Given the description of an element on the screen output the (x, y) to click on. 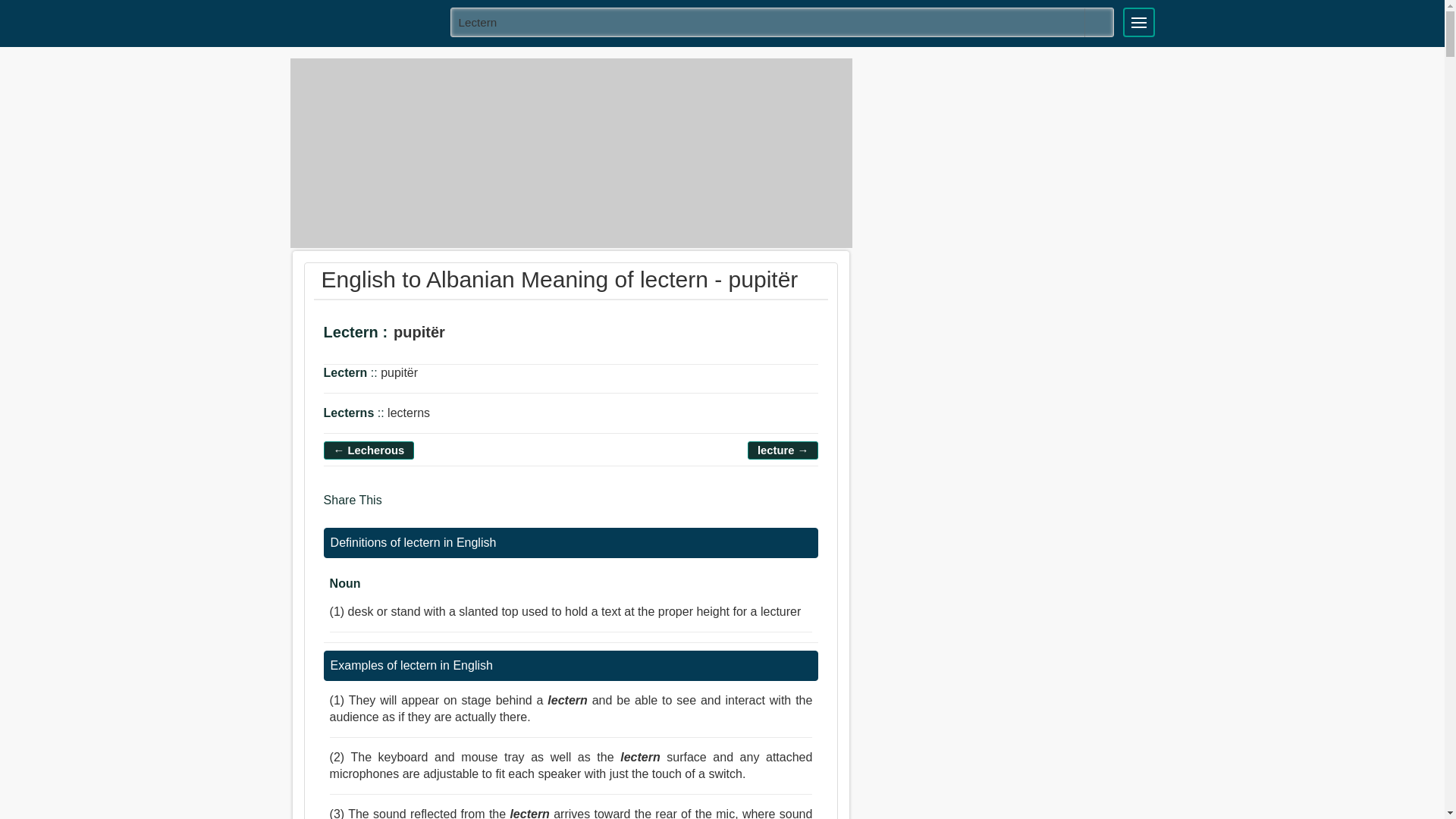
ALBANIAN (365, 20)
Say The Word (470, 334)
Twitter (428, 506)
Linkedin (458, 506)
Search (1098, 22)
English to Albanian meaning of lecherous (368, 450)
English to Albanian meaning of lecture (782, 450)
Add To Favorites (512, 334)
More Share (485, 506)
lectern (782, 21)
Facebook (398, 506)
